Given the description of an element on the screen output the (x, y) to click on. 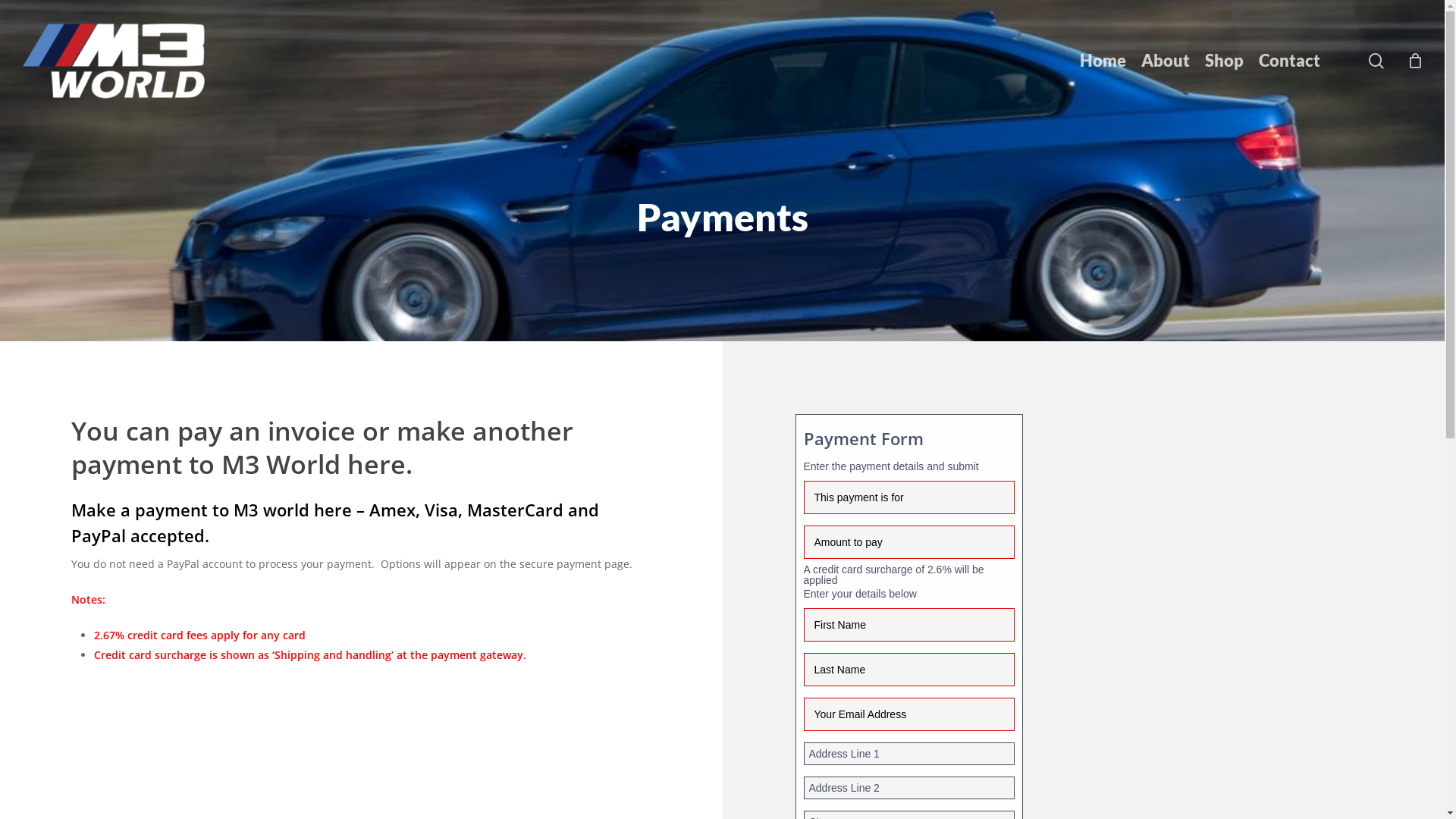
search Element type: text (1376, 61)
Home Element type: text (1102, 60)
Shop Element type: text (1224, 60)
Contact Element type: text (1289, 60)
About Element type: text (1165, 60)
